Given the description of an element on the screen output the (x, y) to click on. 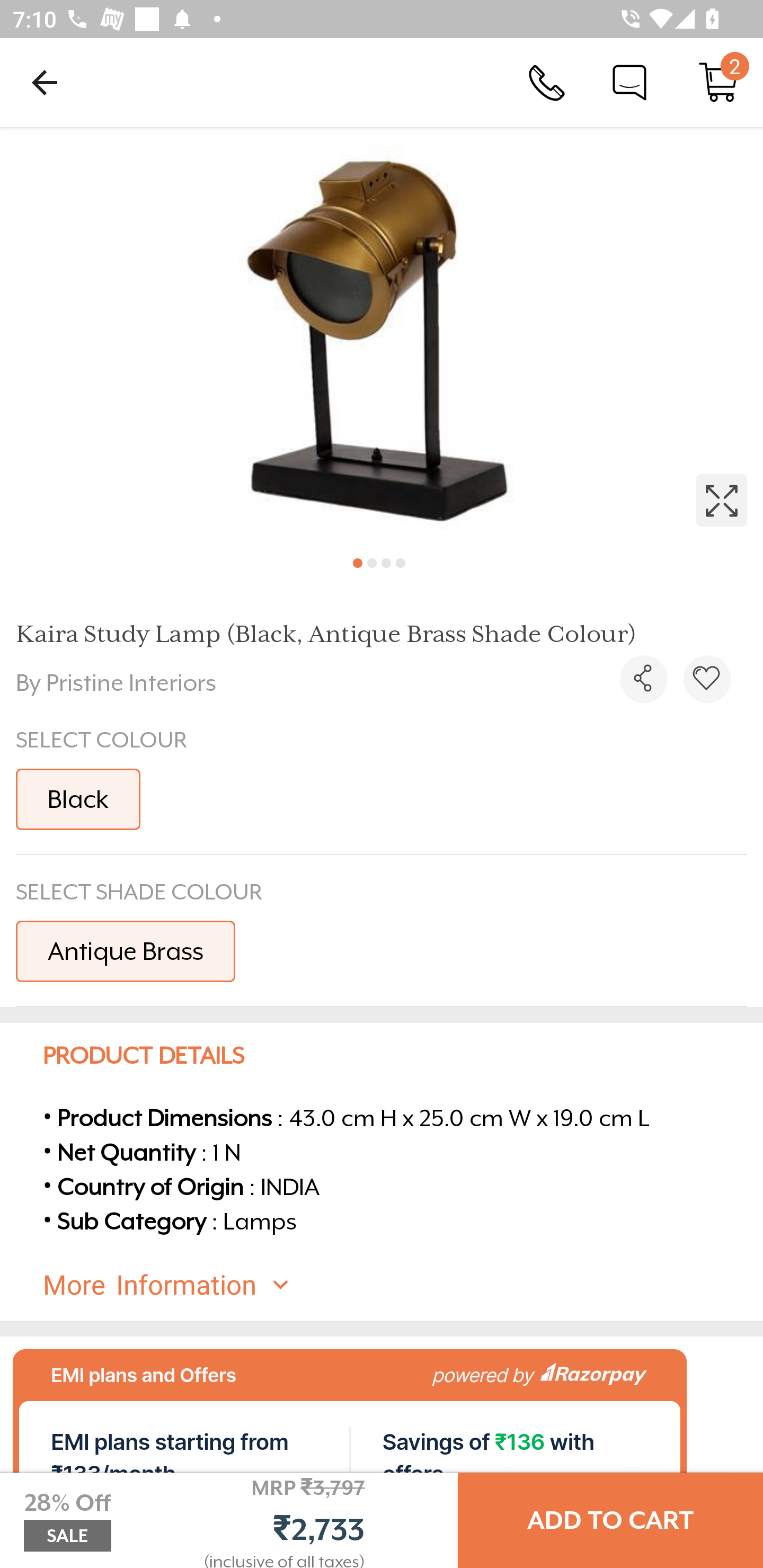
Navigate up (44, 82)
Call Us (546, 81)
Chat (629, 81)
Cart (718, 81)
 (381, 334)
 (643, 678)
 (706, 678)
Black (78, 798)
Antique Brass (125, 950)
More Information  (396, 1284)
ADD TO CART (610, 1520)
